Given the description of an element on the screen output the (x, y) to click on. 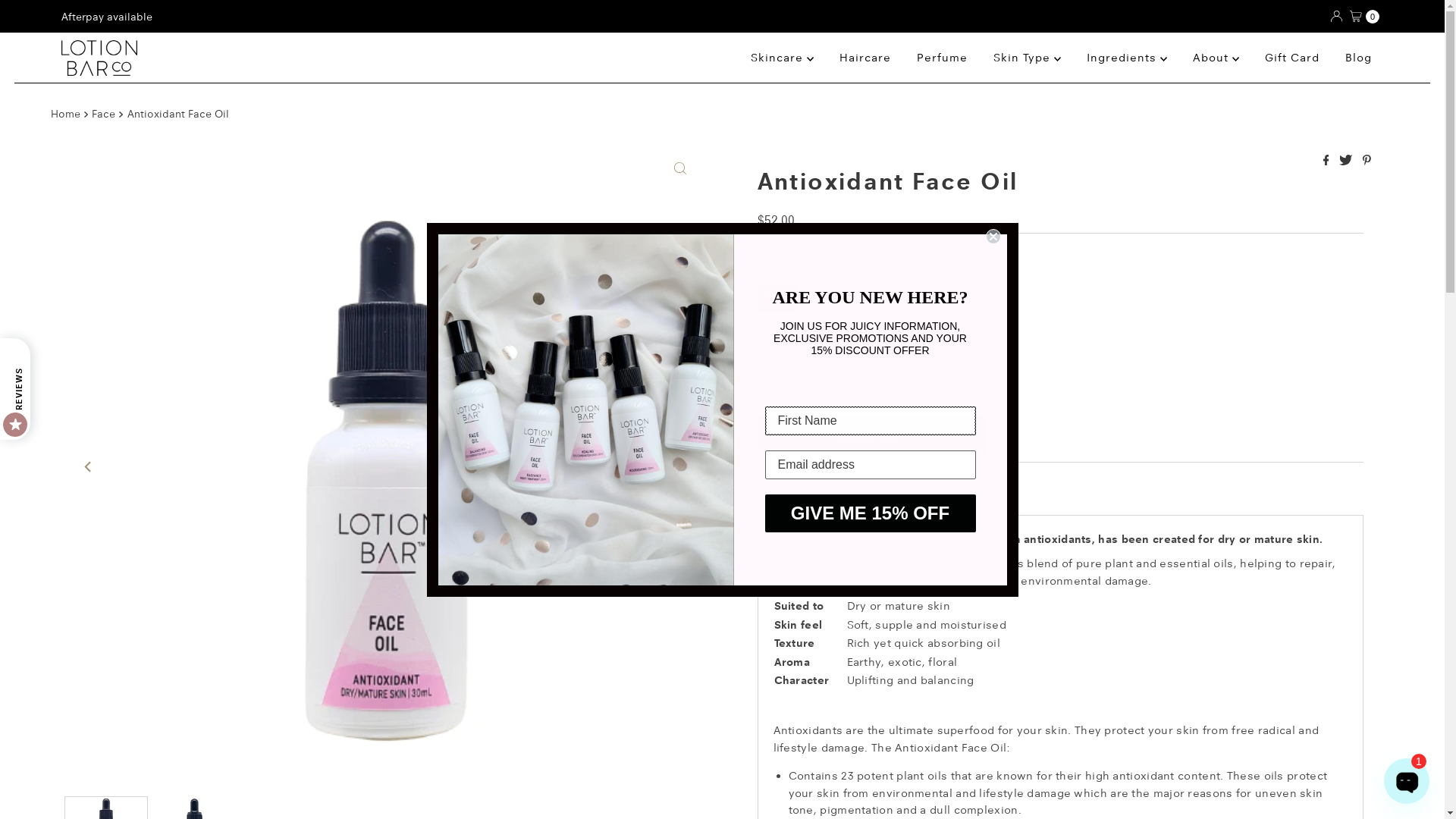
GIVE ME 15% OFF Element type: text (869, 513)
Submit Element type: text (32, 18)
Home Element type: text (67, 113)
REVIEWS Element type: text (50, 353)
Face Element type: text (105, 113)
Blog Element type: text (1358, 57)
Perfume Element type: text (942, 57)
+ Element type: text (860, 376)
Add to Cart Element type: text (870, 435)
Haircare Element type: text (865, 57)
Gift Card Element type: text (1291, 57)
- Element type: text (777, 376)
0 Element type: text (1364, 16)
